Given the description of an element on the screen output the (x, y) to click on. 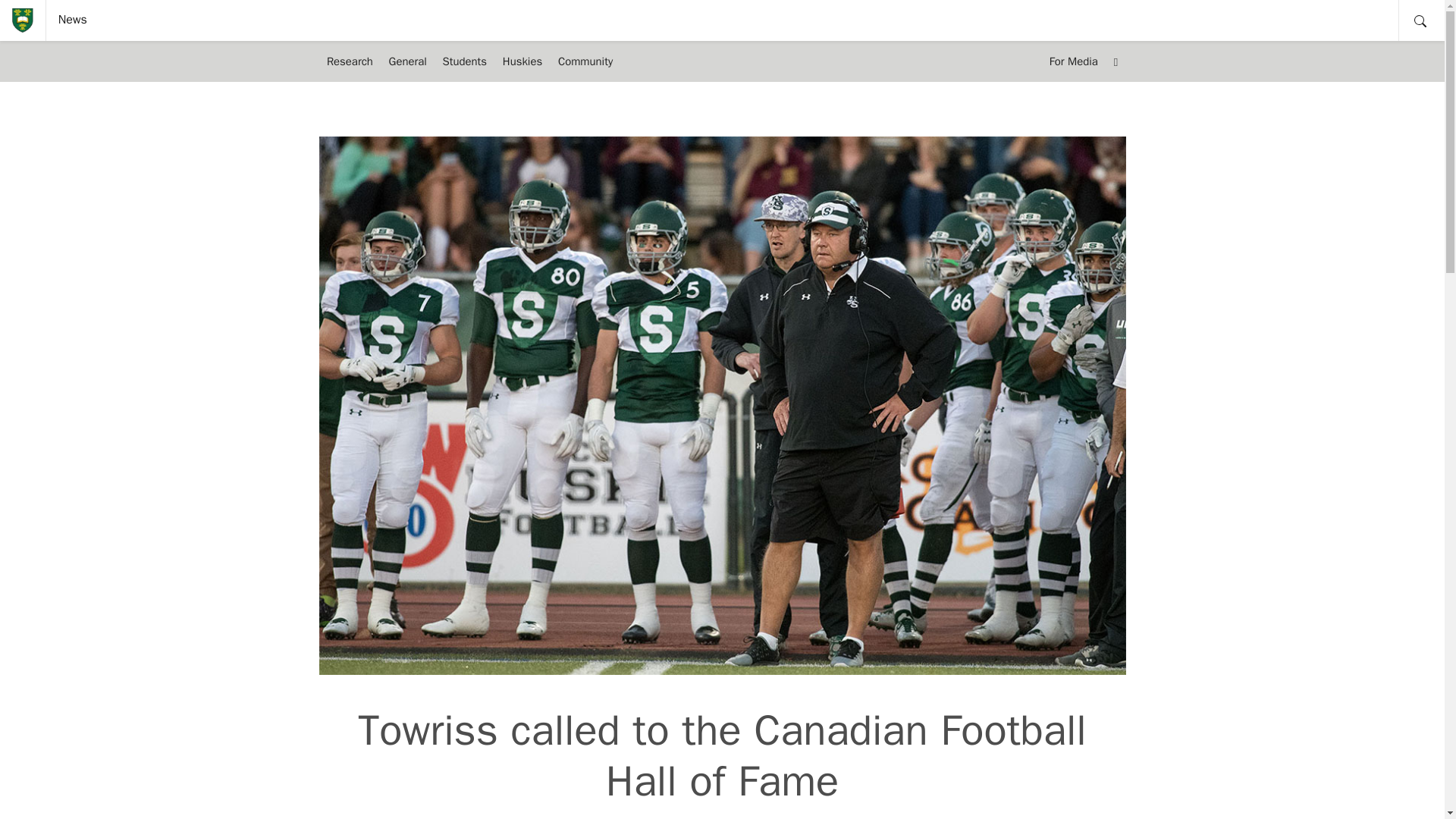
For Media (1073, 60)
Research (349, 60)
Community (585, 60)
News (72, 20)
Huskies (522, 60)
General (406, 60)
Students (464, 60)
